Given the description of an element on the screen output the (x, y) to click on. 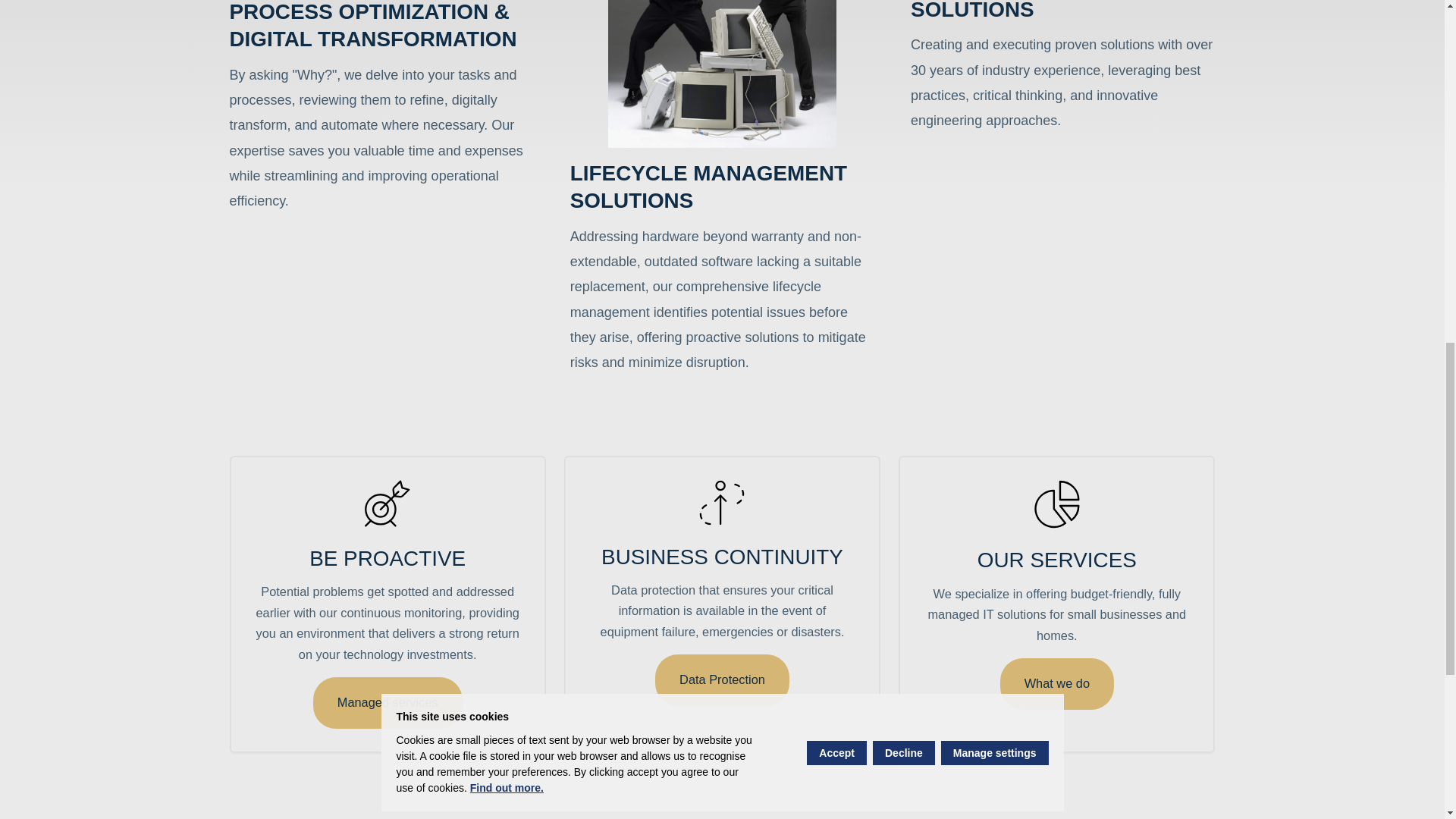
Managed services (388, 702)
Data Protection (722, 679)
What we do (1056, 684)
